Given the description of an element on the screen output the (x, y) to click on. 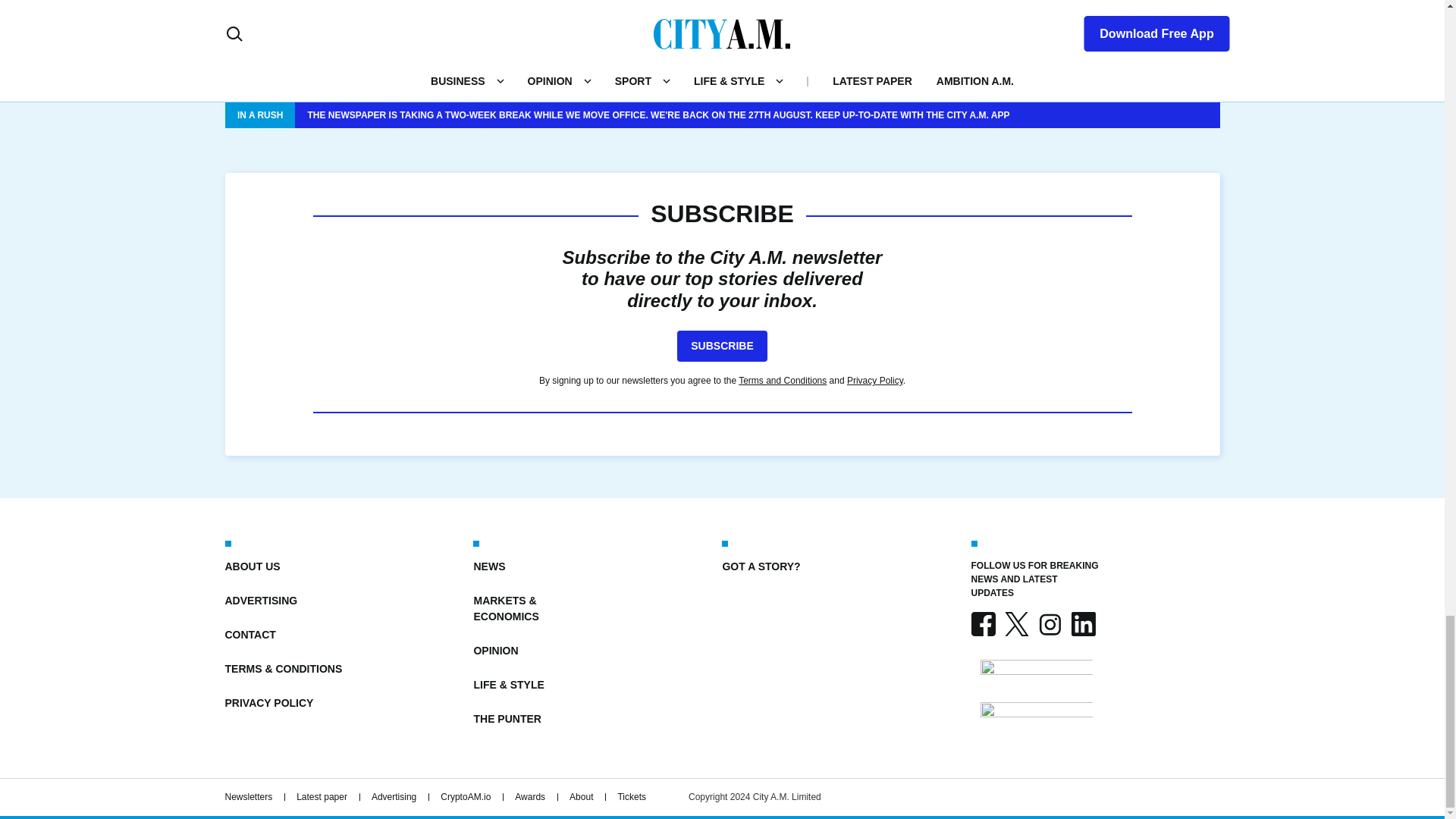
LINKEDIN (1082, 623)
FACEBOOK (982, 623)
INSTAGRAM (1048, 623)
X (1015, 623)
